Given the description of an element on the screen output the (x, y) to click on. 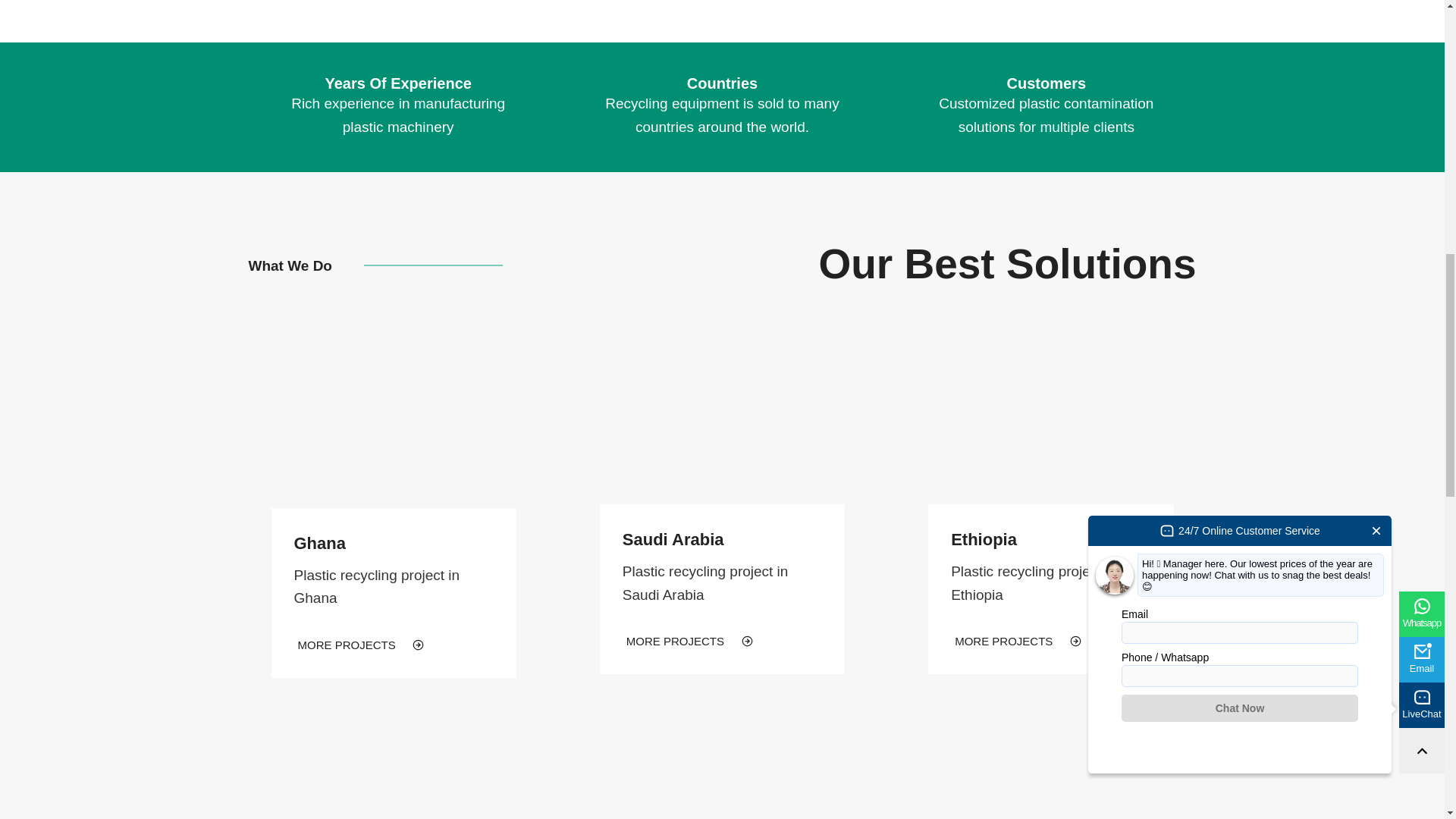
MORE PROJECTS (689, 640)
MORE PROJECTS (360, 644)
Ghana (320, 542)
Saudi Arabia (673, 538)
MORE PROJECTS (1018, 640)
Ethiopia (983, 538)
